Given the description of an element on the screen output the (x, y) to click on. 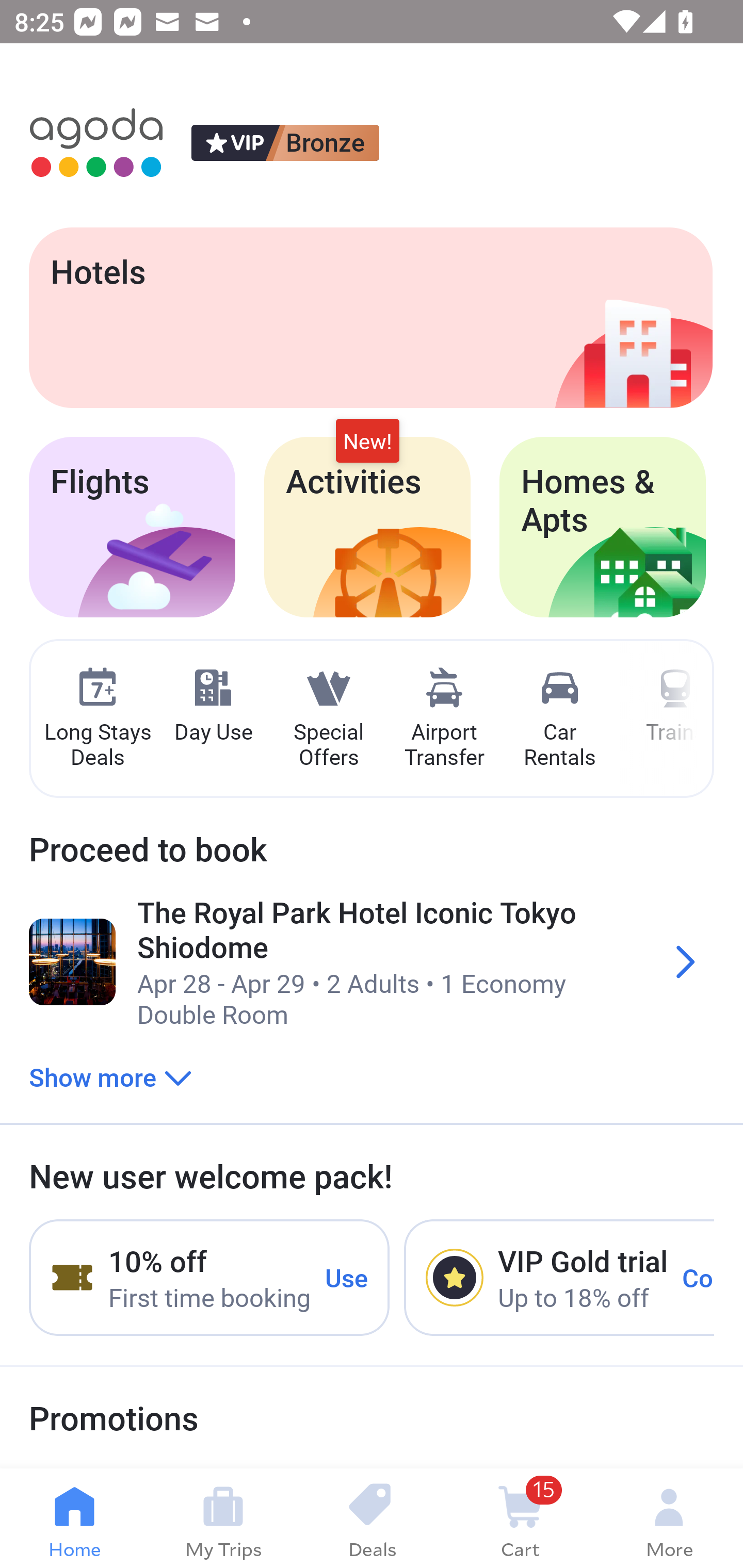
Hotels (370, 317)
New! (367, 441)
Flights (131, 527)
Activities (367, 527)
Homes & Apts (602, 527)
Day Use (213, 706)
Long Stays Deals (97, 718)
Special Offers (328, 718)
Airport Transfer (444, 718)
Car Rentals (559, 718)
Show more (110, 1076)
Use (346, 1277)
Home (74, 1518)
My Trips (222, 1518)
Deals (371, 1518)
15 Cart (519, 1518)
More (668, 1518)
